Given the description of an element on the screen output the (x, y) to click on. 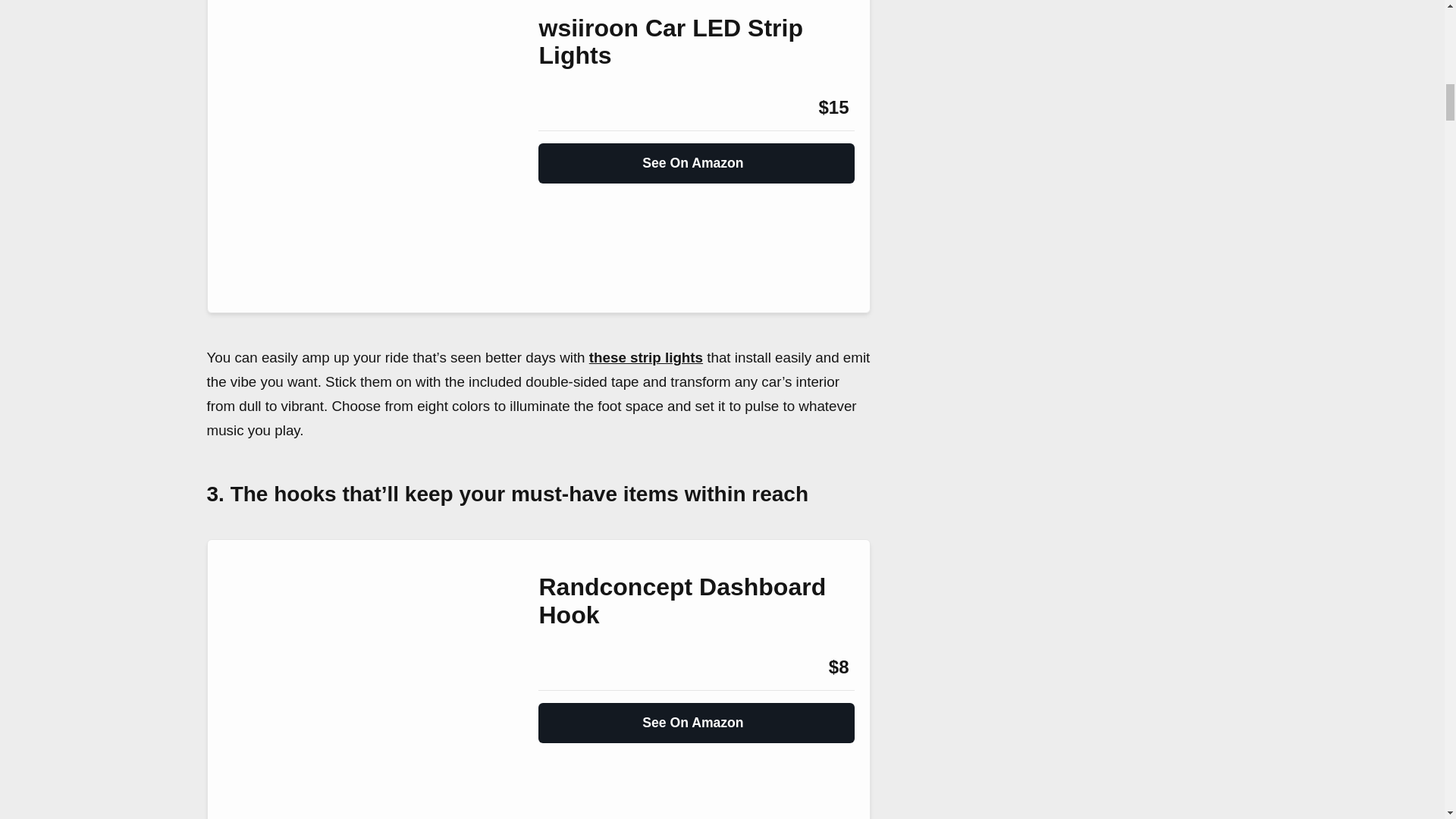
Amazon (579, 107)
these strip lights (646, 357)
See On Amazon (696, 716)
See On Amazon (696, 156)
Amazon (579, 667)
